Given the description of an element on the screen output the (x, y) to click on. 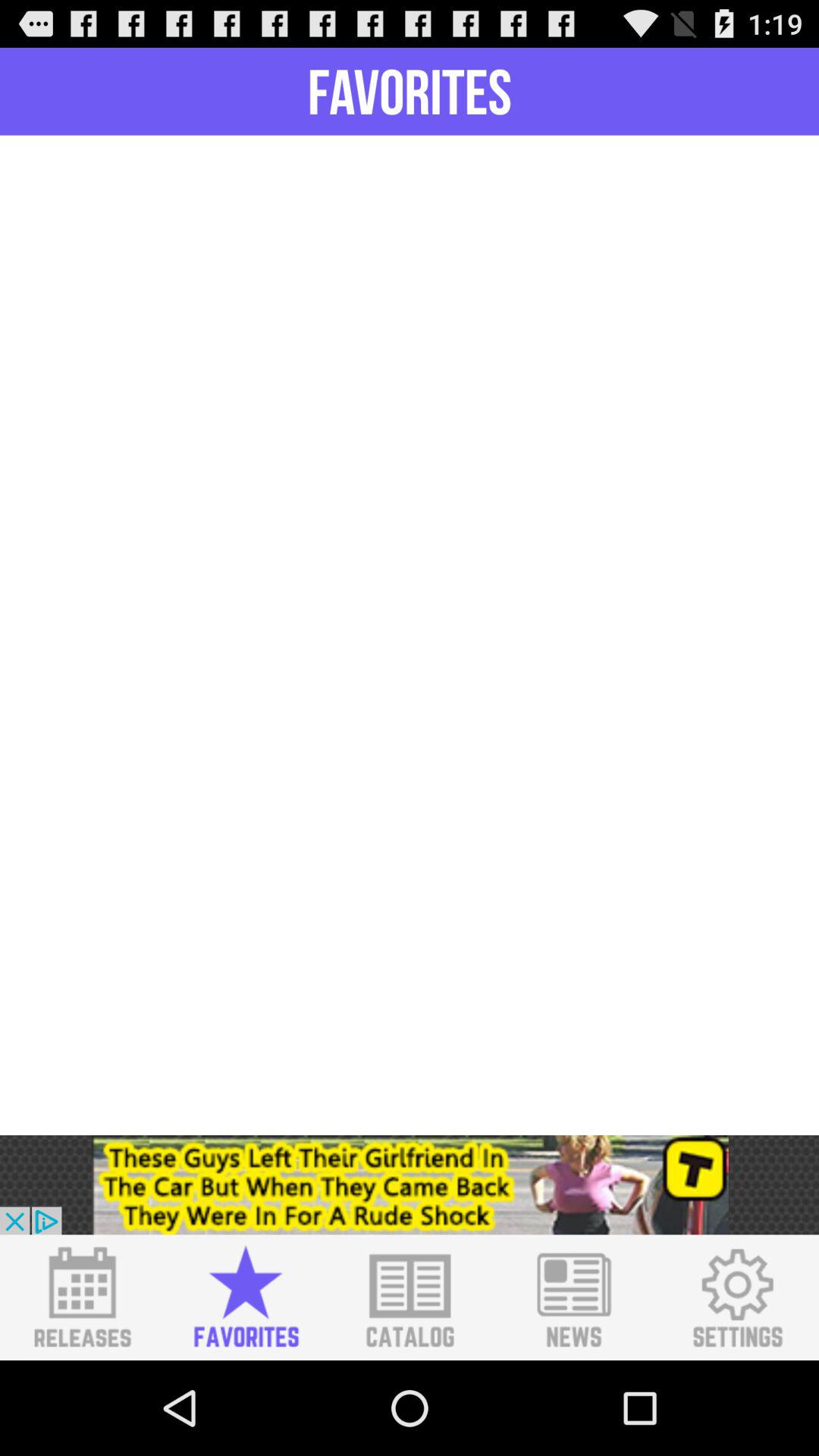
highlights the release option (81, 1297)
